Given the description of an element on the screen output the (x, y) to click on. 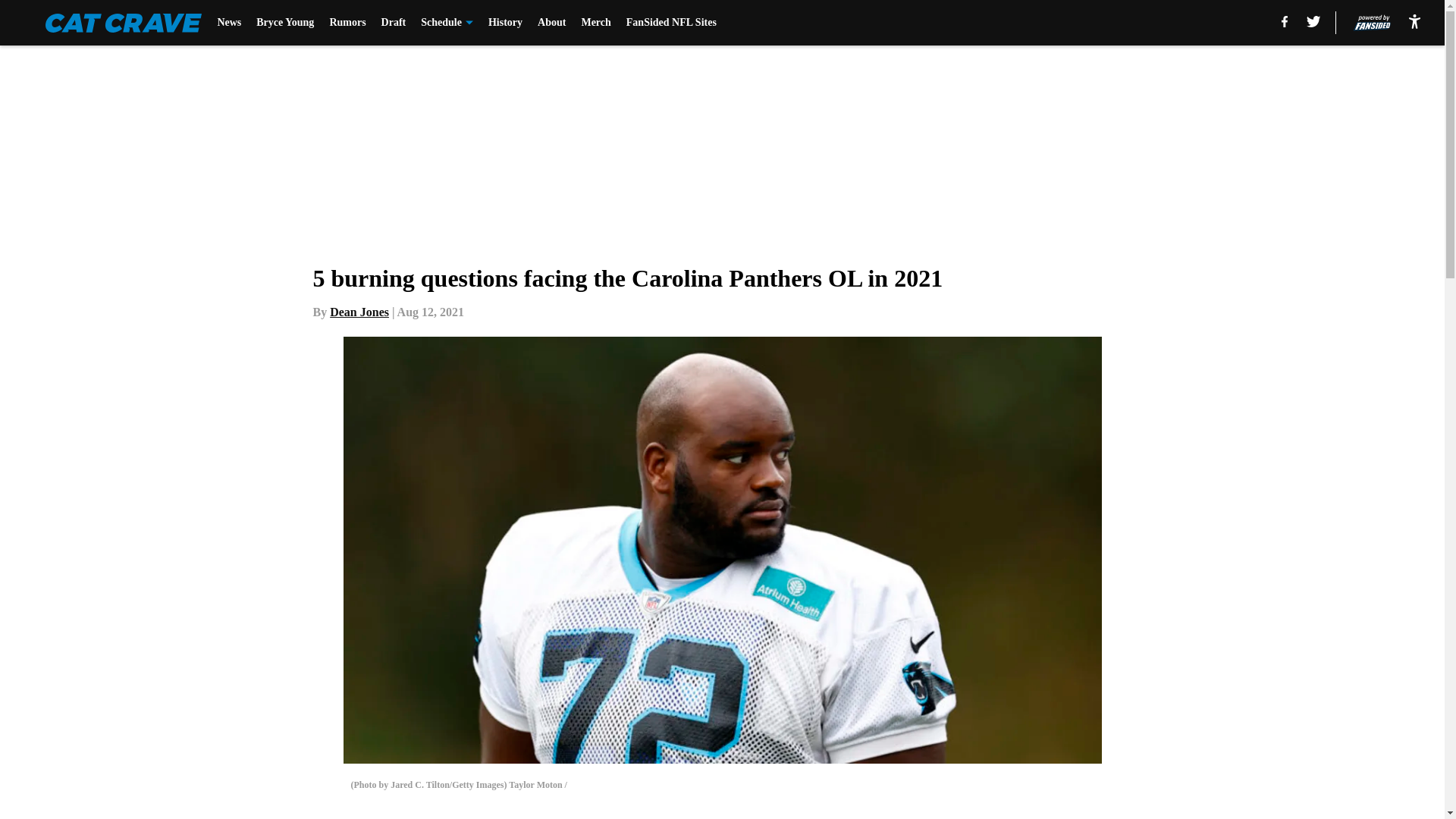
Rumors (347, 22)
About (551, 22)
News (228, 22)
Draft (393, 22)
FanSided NFL Sites (671, 22)
History (504, 22)
Dean Jones (359, 311)
Merch (595, 22)
Bryce Young (285, 22)
